Given the description of an element on the screen output the (x, y) to click on. 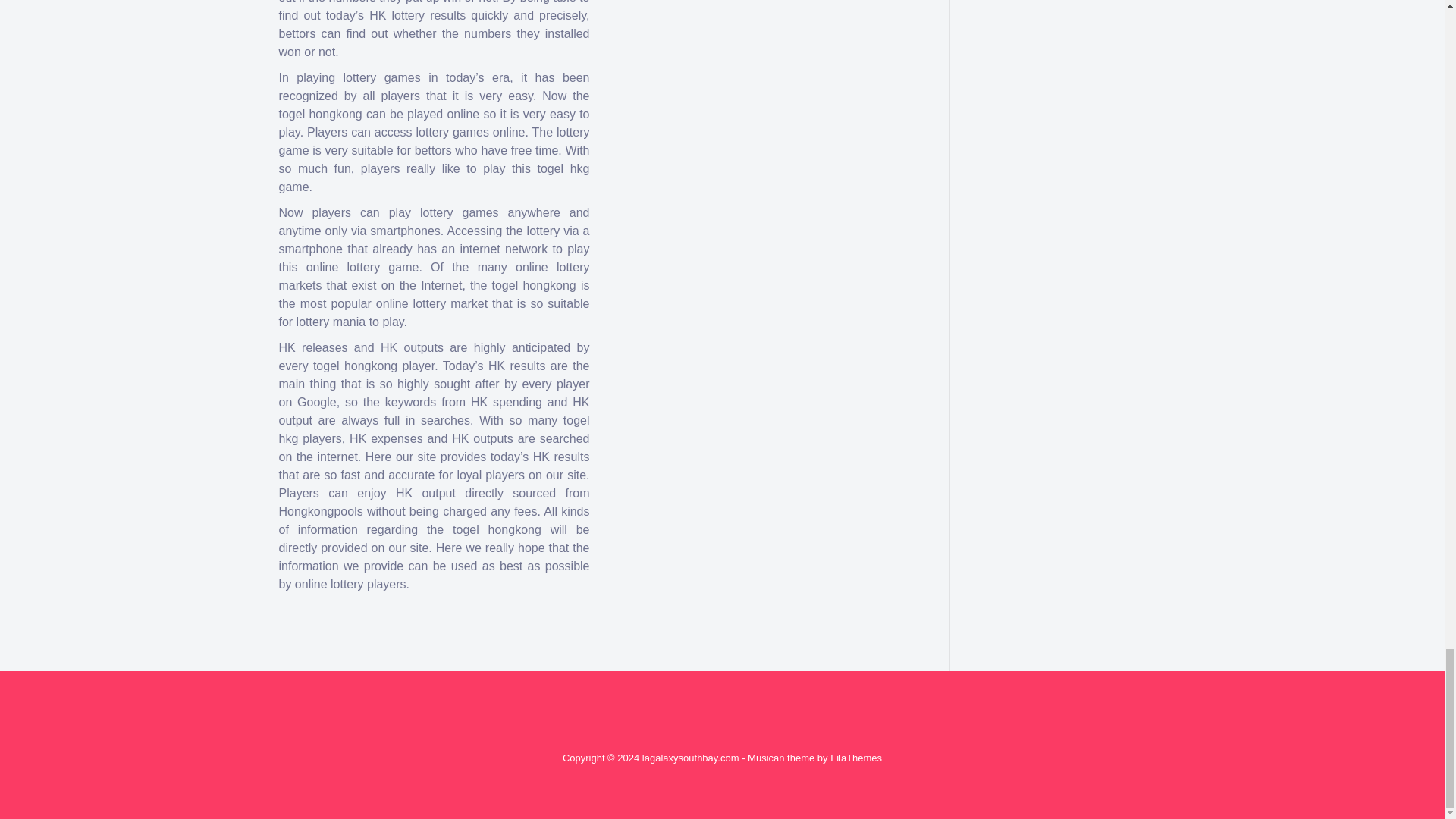
lagalaxysouthbay.com (690, 757)
